Given the description of an element on the screen output the (x, y) to click on. 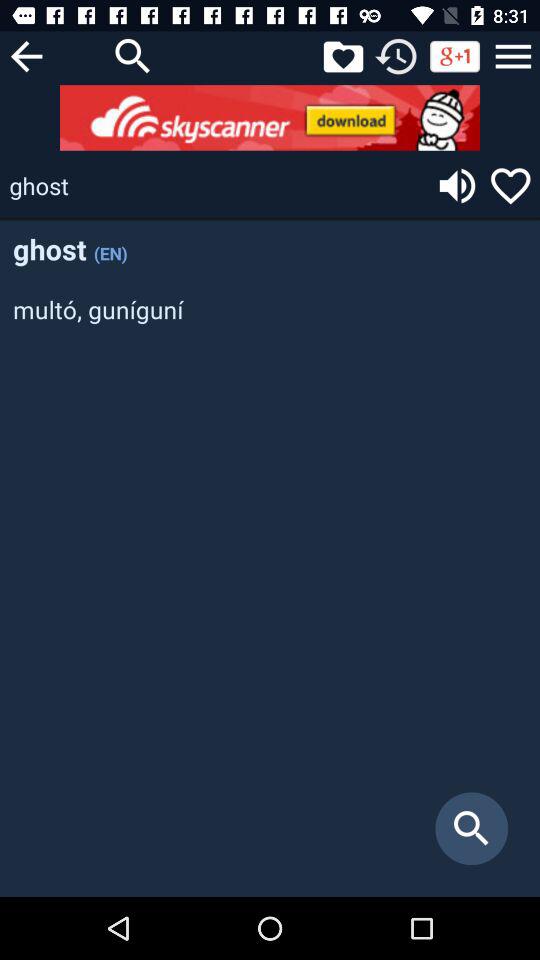
switch like option (510, 185)
